Given the description of an element on the screen output the (x, y) to click on. 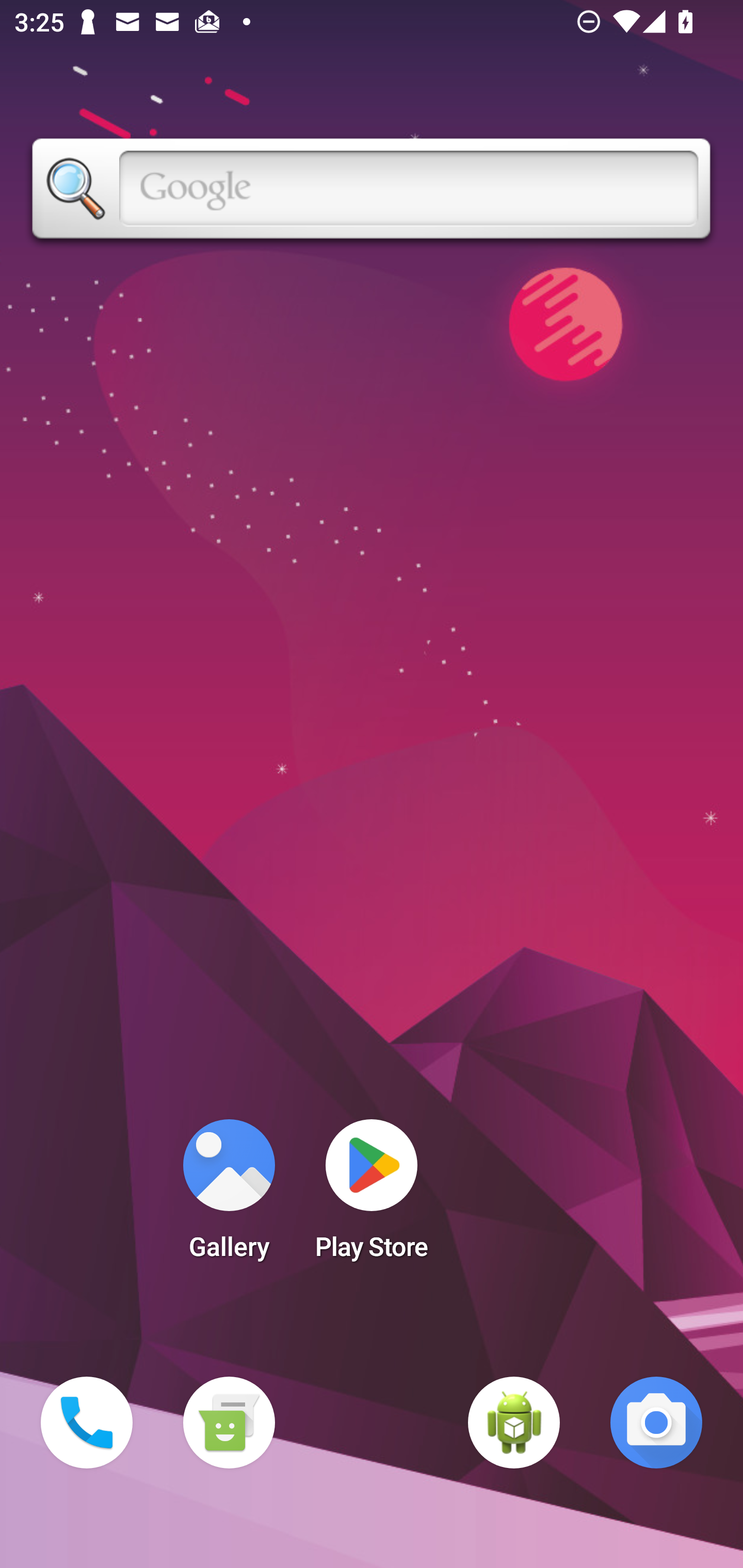
Gallery (228, 1195)
Play Store (371, 1195)
Phone (86, 1422)
Messaging (228, 1422)
WebView Browser Tester (513, 1422)
Camera (656, 1422)
